Given the description of an element on the screen output the (x, y) to click on. 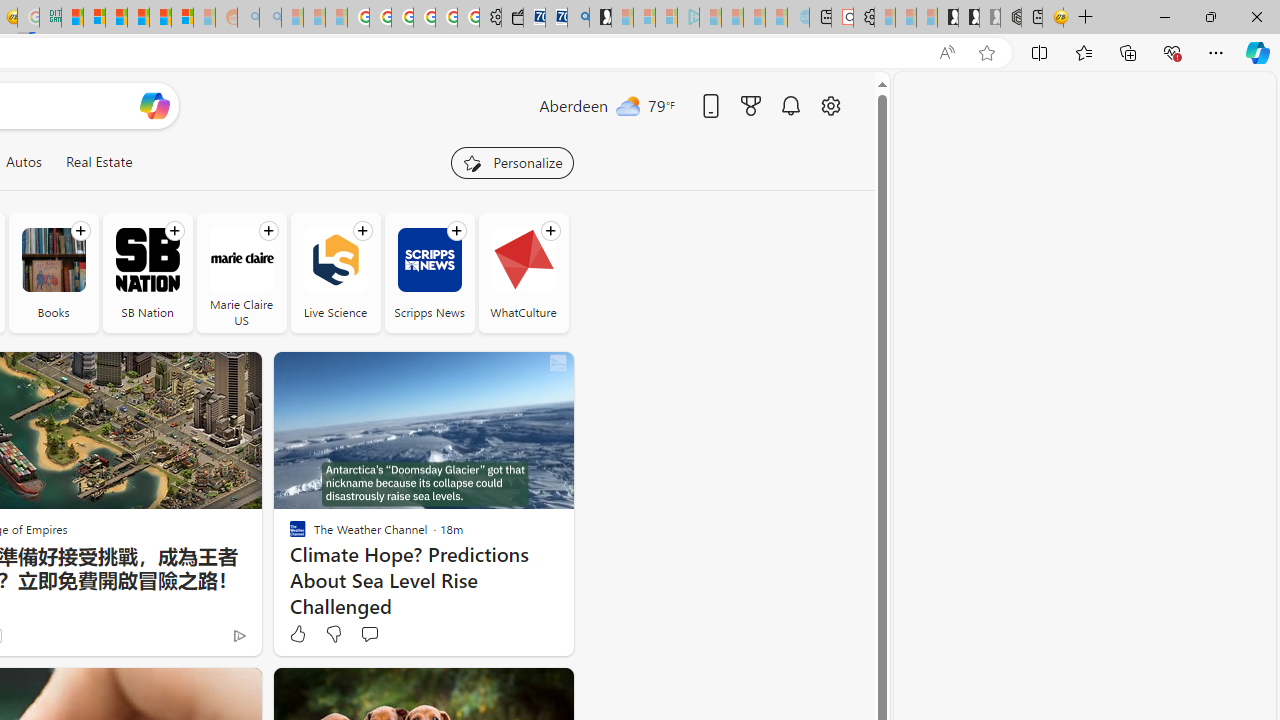
Books (52, 260)
Follow channel (550, 231)
SB Nation (147, 260)
Marie Claire US (240, 272)
